Given the description of an element on the screen output the (x, y) to click on. 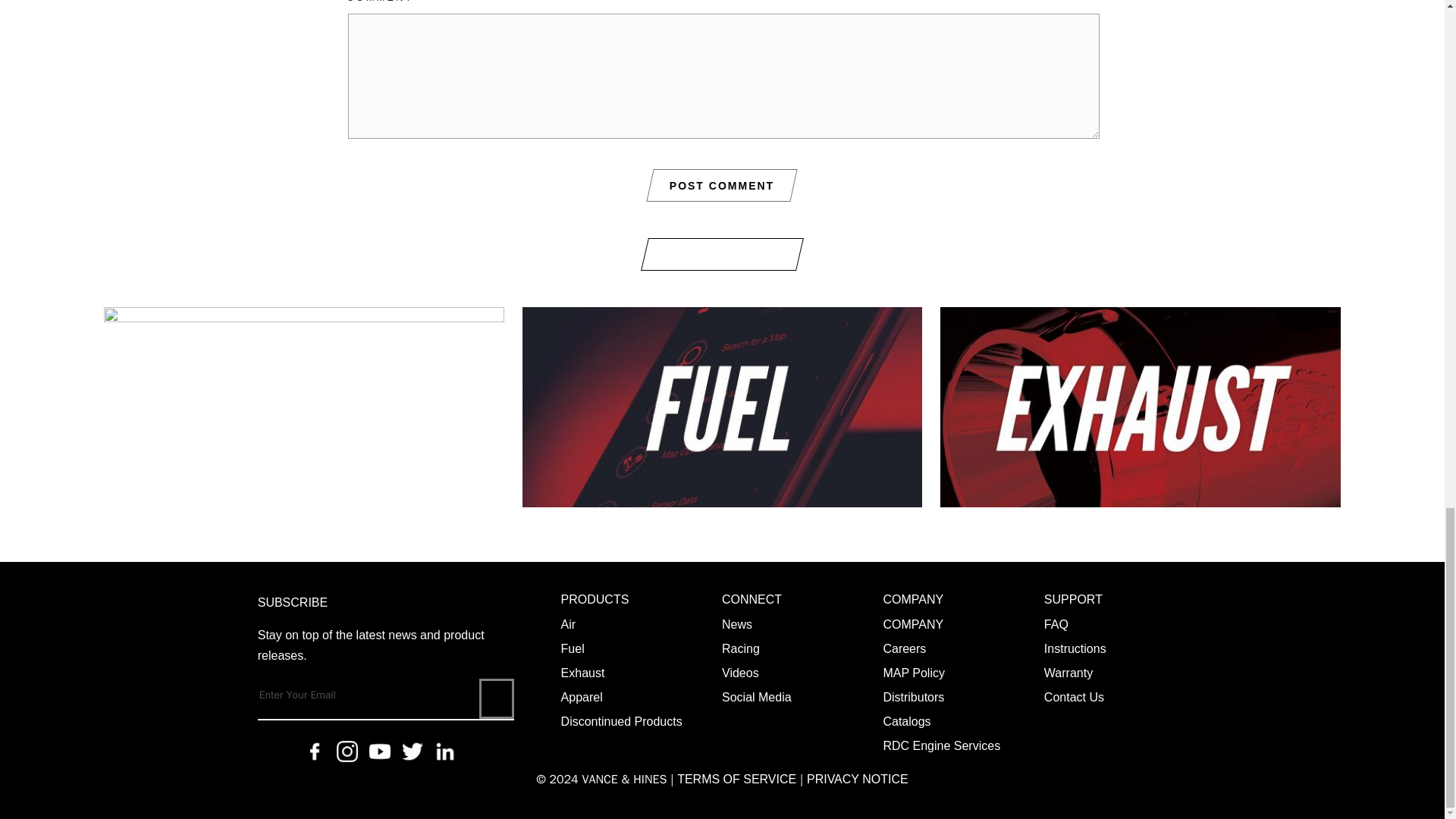
Post Comment (721, 186)
Subscribe (496, 698)
